Given the description of an element on the screen output the (x, y) to click on. 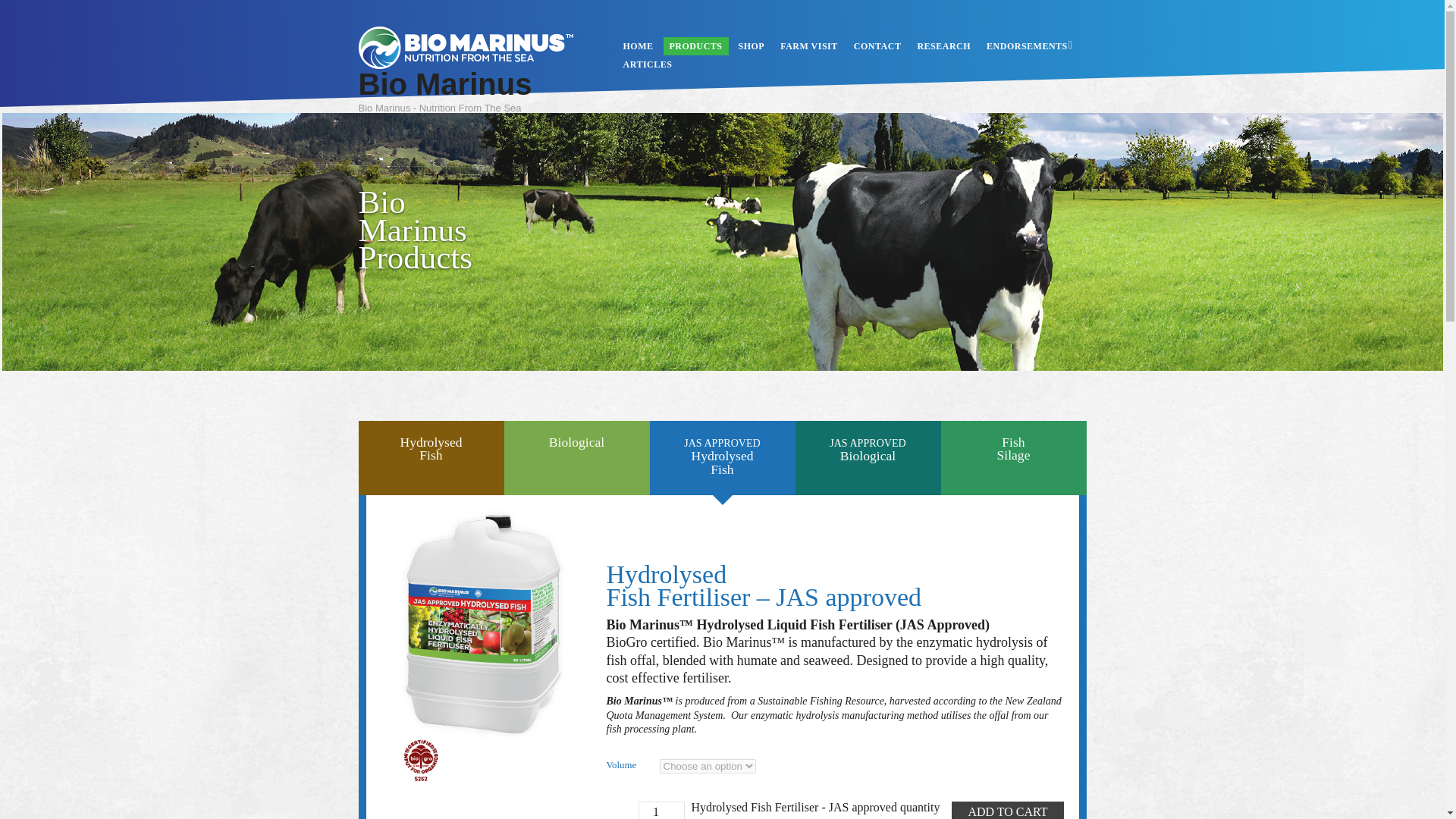
Bio Marinus - Nutrition From The Sea (465, 62)
ADD TO CART (1007, 810)
HOME (638, 45)
SHOP (430, 457)
Qty (751, 45)
FARM VISIT (661, 810)
ARTICLES (809, 45)
Bio Marinus (867, 457)
ENDORSEMENTS (647, 64)
CONTACT (444, 83)
RESEARCH (1026, 45)
1 (877, 45)
